Given the description of an element on the screen output the (x, y) to click on. 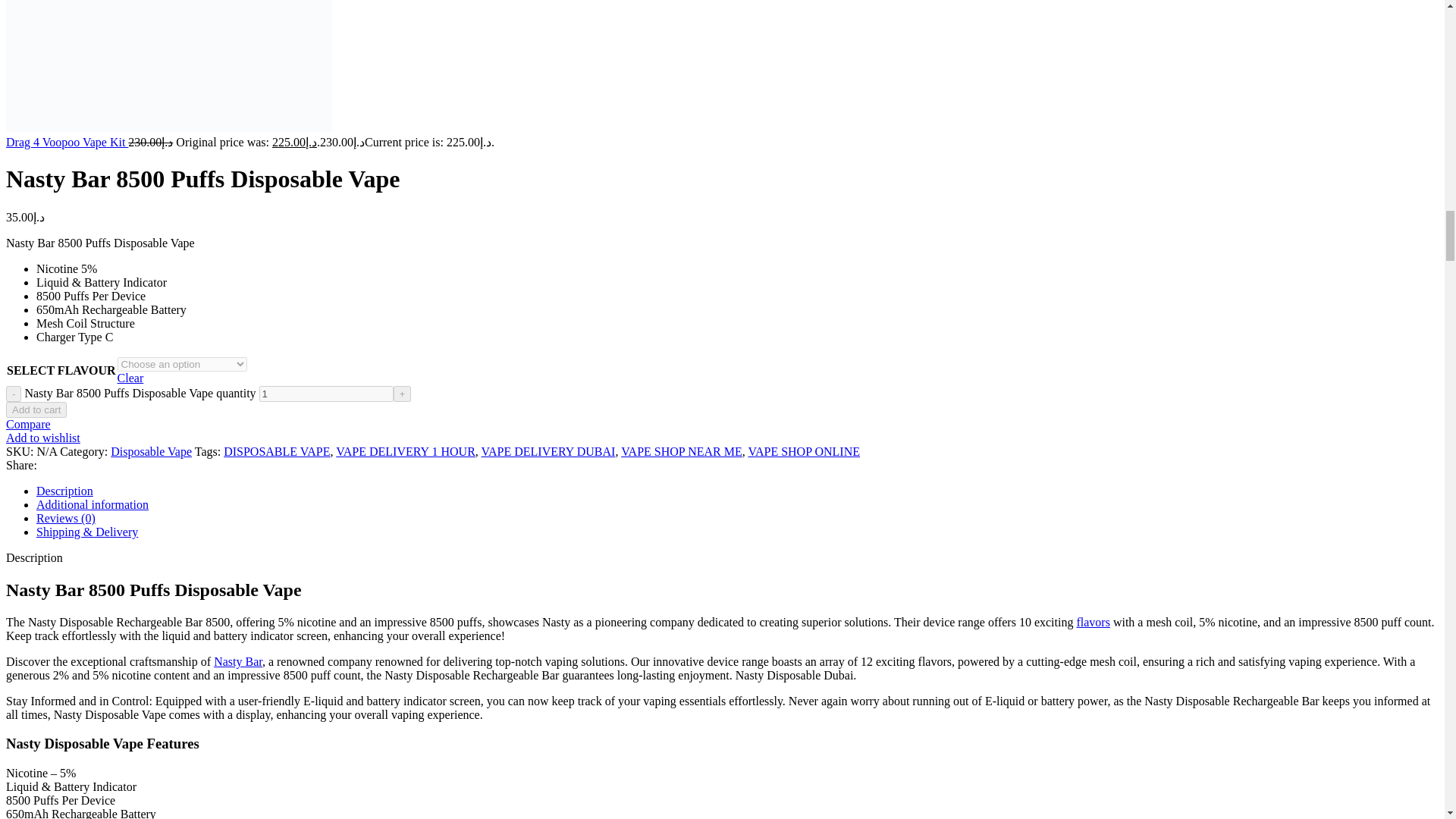
Clear (130, 377)
1 (326, 393)
- (13, 393)
Drag 4 Voopoo Vape Kit (66, 141)
